Given the description of an element on the screen output the (x, y) to click on. 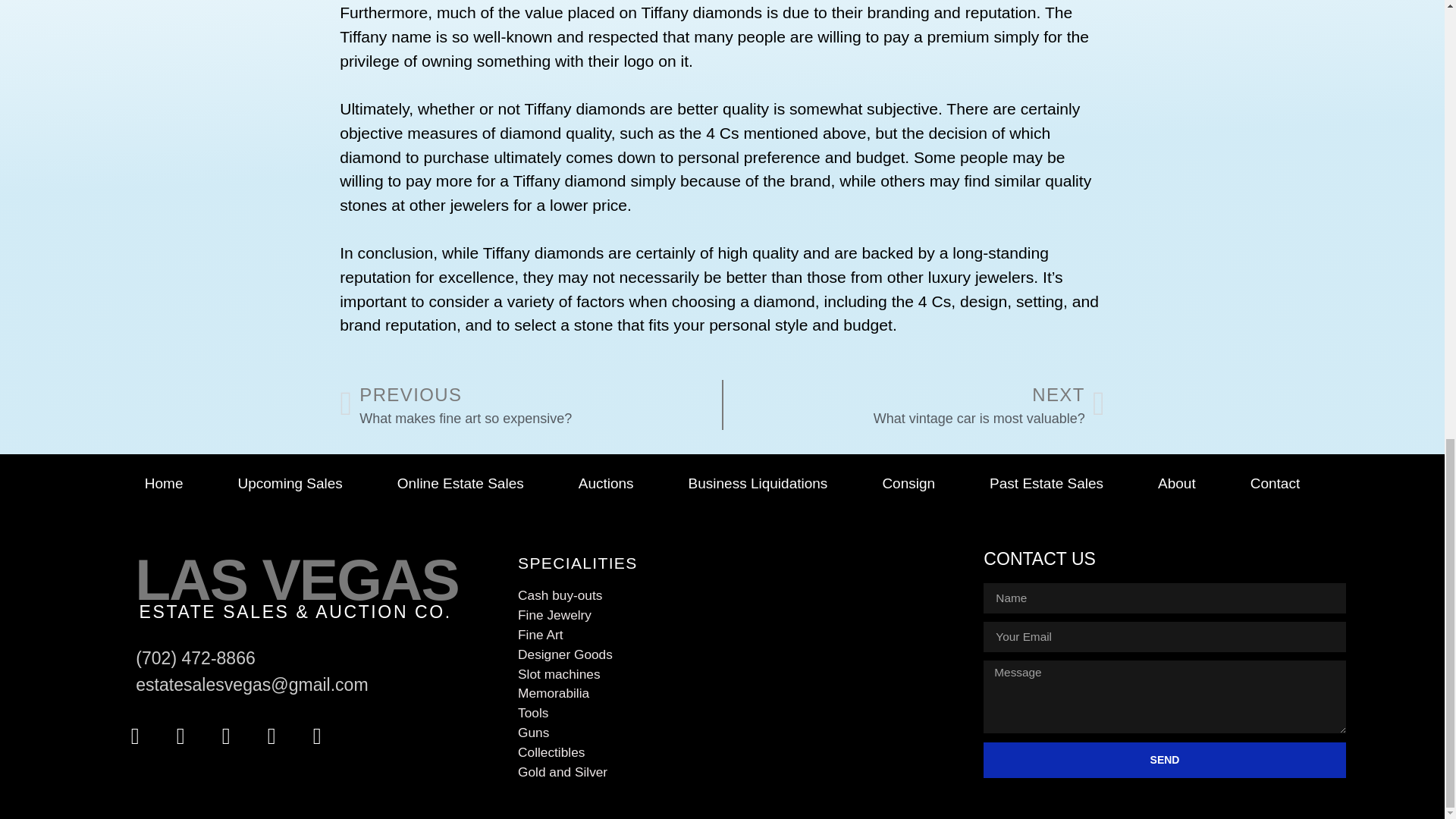
Online Estate Sales (460, 483)
Consign (908, 483)
Home (163, 483)
Auctions (606, 483)
Contact (1275, 483)
About (1176, 483)
Upcoming Sales (289, 483)
Past Estate Sales (529, 404)
